Given the description of an element on the screen output the (x, y) to click on. 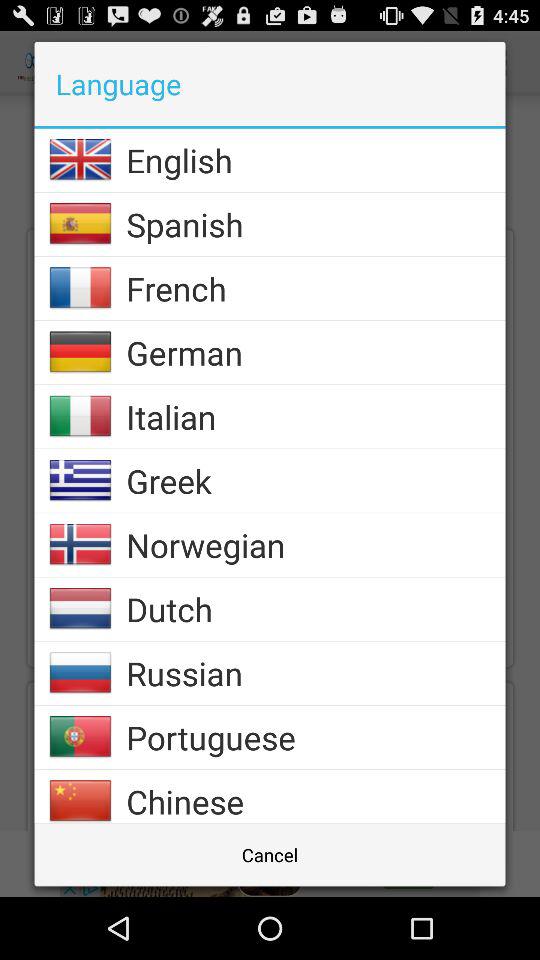
choose the greek (315, 480)
